Given the description of an element on the screen output the (x, y) to click on. 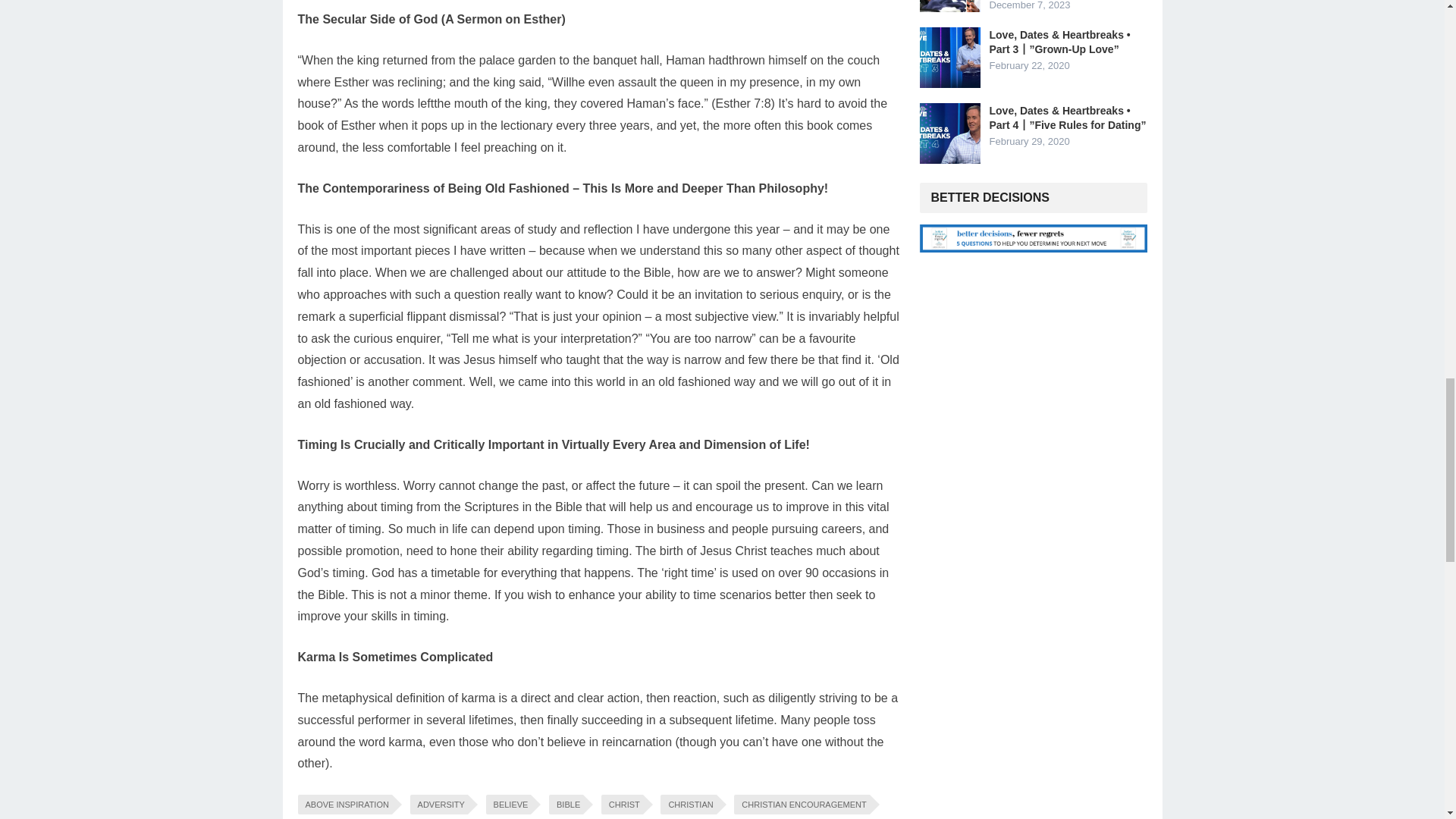
BIBLE (565, 804)
BELIEVE (508, 804)
CHRIST (622, 804)
ADVERSITY (438, 804)
ABOVE INSPIRATION (344, 804)
